Given the description of an element on the screen output the (x, y) to click on. 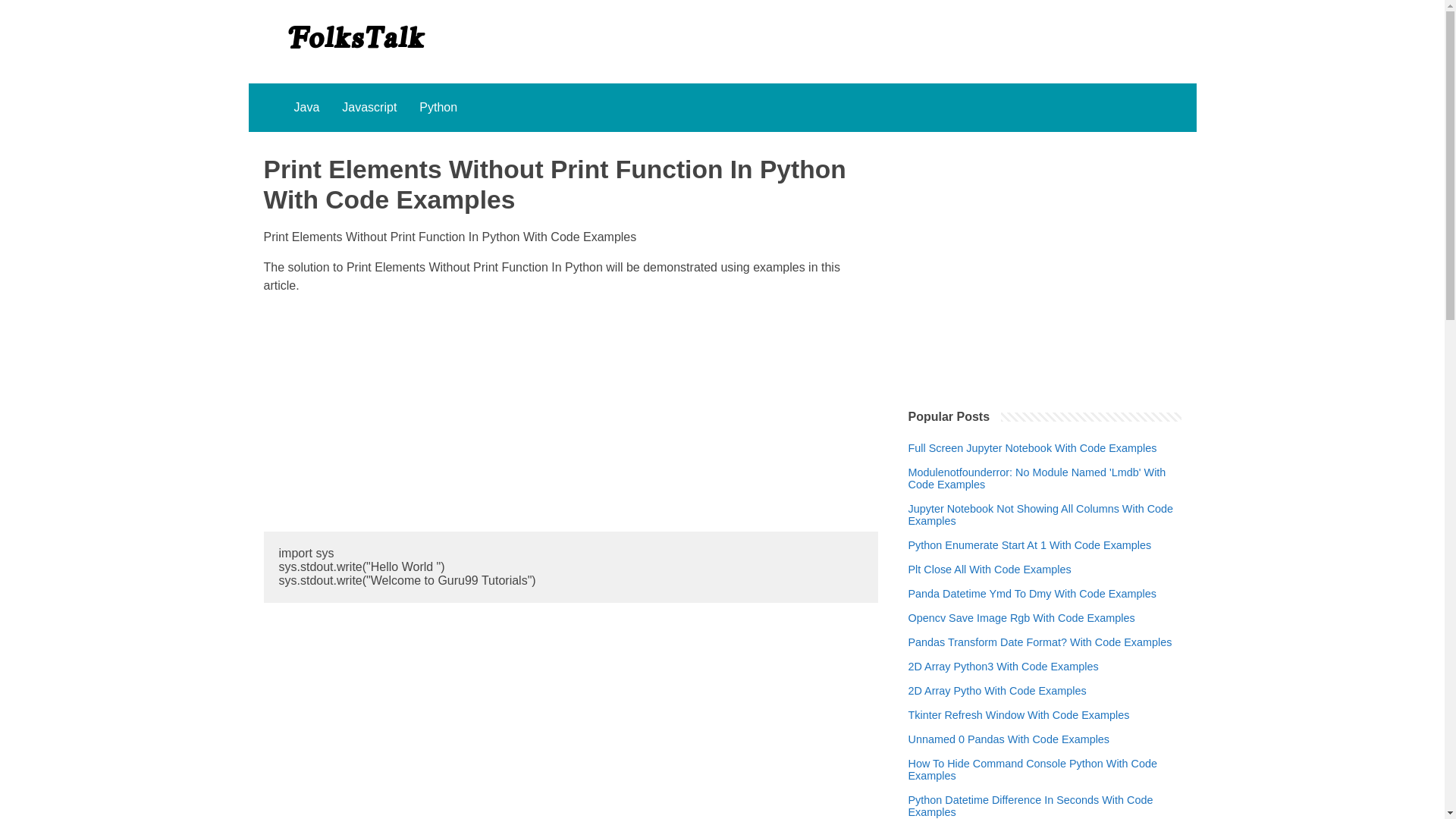
Tkinter Refresh Window With Code Examples (1018, 729)
Javascript (369, 107)
Python Datetime Difference In Seconds With Code Examples (1044, 814)
Python (438, 107)
Plt Close All With Code Examples (989, 584)
Opencv Save Image Rgb With Code Examples (1021, 633)
Panda Datetime Ymd To Dmy With Code Examples (1032, 608)
Jupyter Notebook Not Showing All Columns With Code Examples (1044, 529)
2D Array Pytho With Code Examples (997, 705)
